Given the description of an element on the screen output the (x, y) to click on. 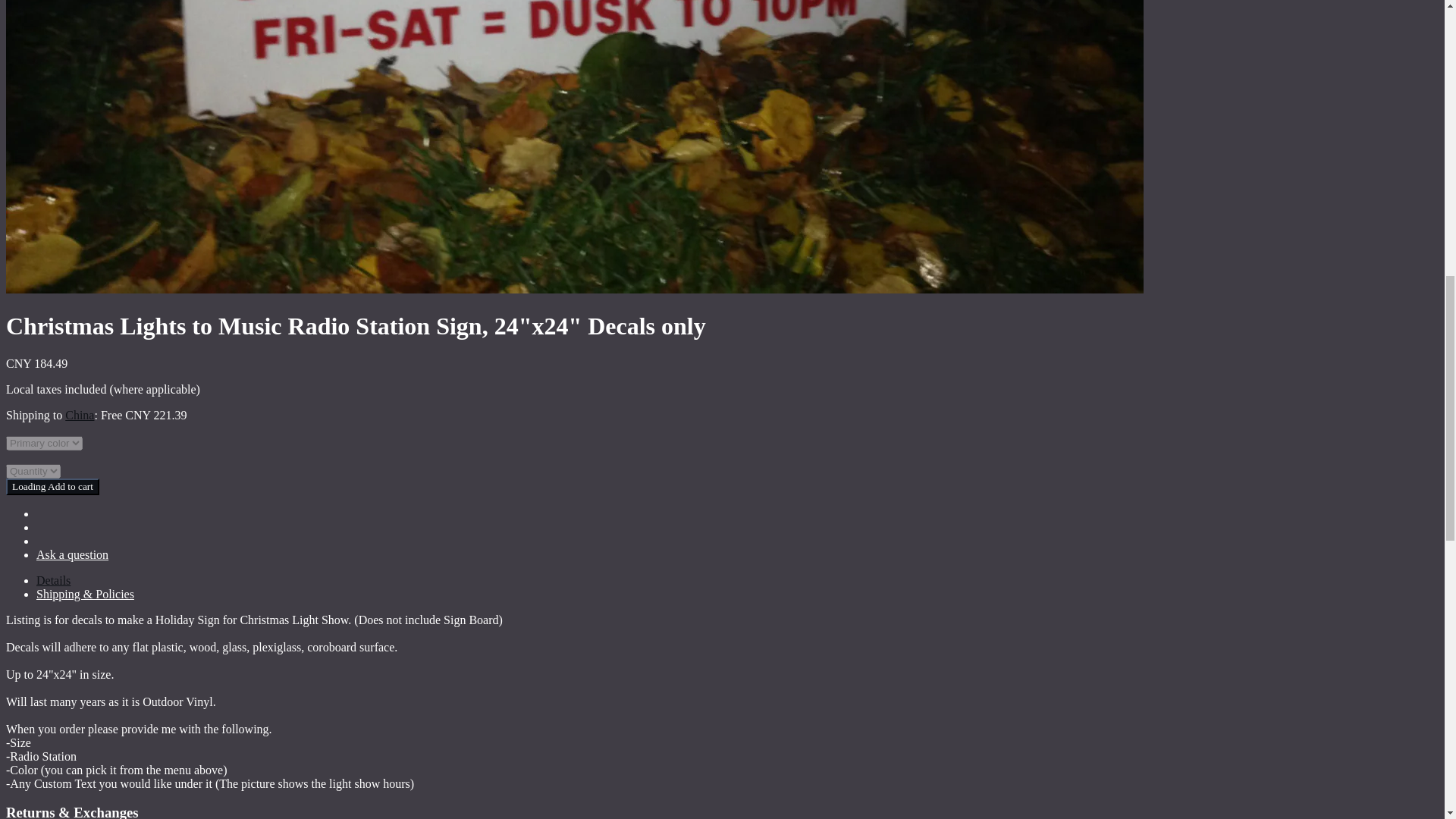
Ask a question (71, 554)
Details (52, 581)
China (79, 414)
Loading Add to cart (52, 486)
